Given the description of an element on the screen output the (x, y) to click on. 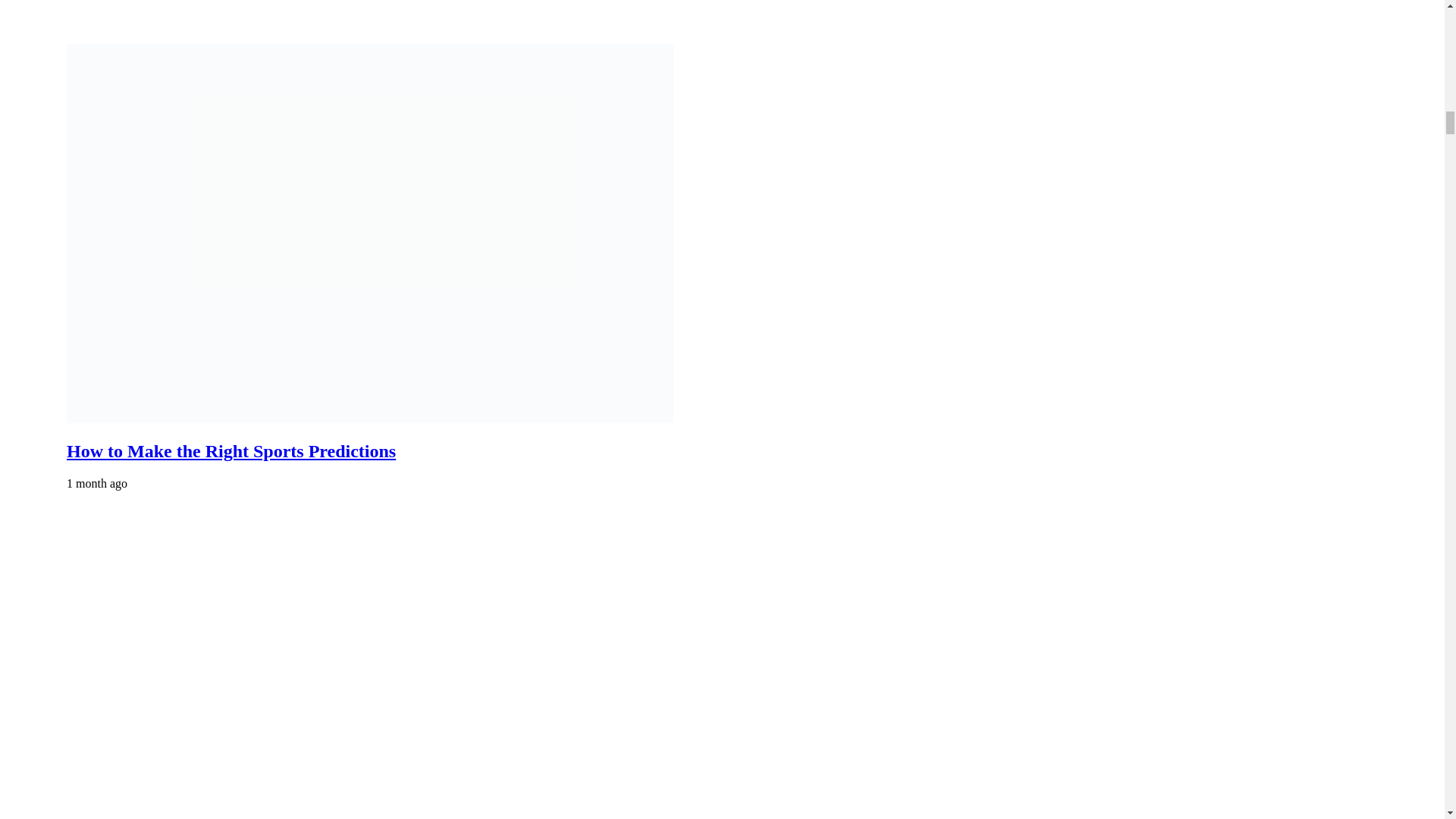
How to Make the Right Sports Predictions (231, 451)
